Given the description of an element on the screen output the (x, y) to click on. 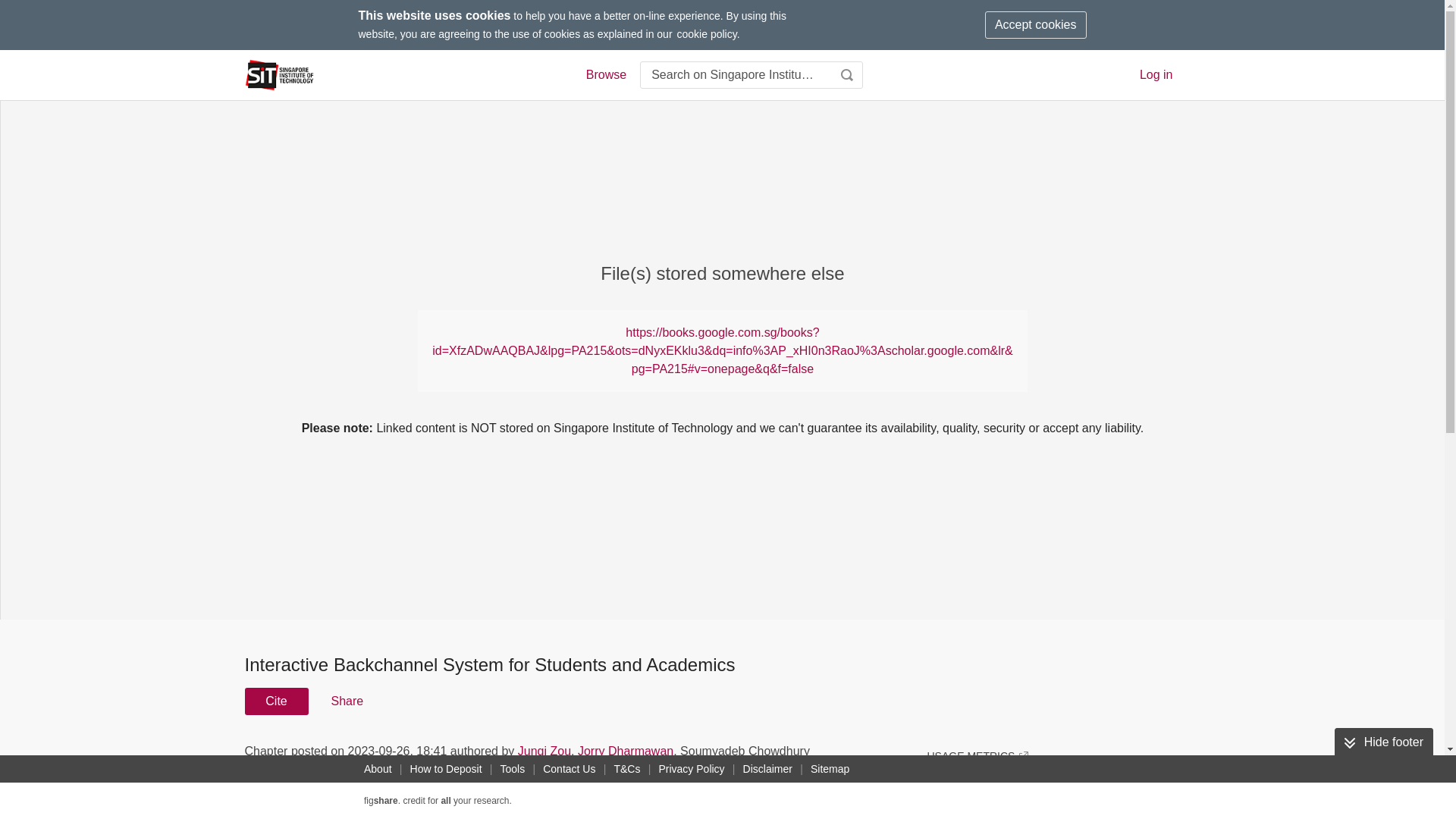
Browse (605, 75)
Privacy Policy (691, 769)
Tools (512, 769)
How to Deposit (446, 769)
Share (346, 700)
Cite (275, 700)
Sitemap (829, 769)
Disclaimer (767, 769)
About (377, 769)
cookie policy (706, 33)
